Given the description of an element on the screen output the (x, y) to click on. 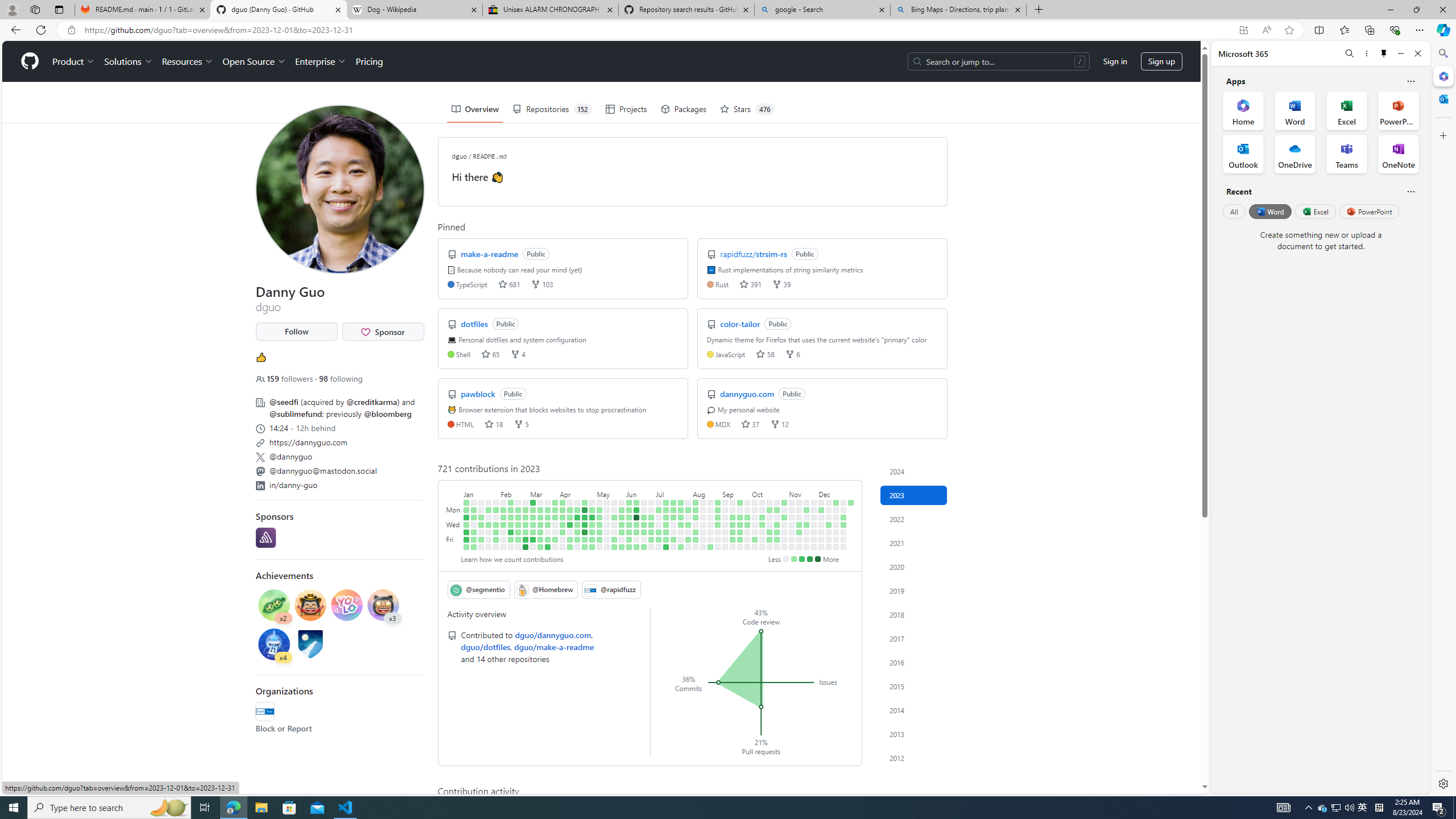
No contributions on September 8th. (725, 539)
No contributions on January 26th. (489, 531)
Contribution activity in 2019 (913, 590)
No contributions on September 1st. (717, 539)
color-tailor (741, 323)
No contributions on July 4th. (658, 517)
January (481, 492)
No contributions on January 24th. (489, 517)
4 contributions on March 31st. (555, 539)
1 contribution on March 20th. (547, 509)
3 contributions on August 11th. (695, 539)
No contributions on December 14th. (828, 531)
Contribution activity in 2013 (913, 733)
No contributions on October 18th. (770, 524)
7 contributions on February 7th. (503, 517)
